Given the description of an element on the screen output the (x, y) to click on. 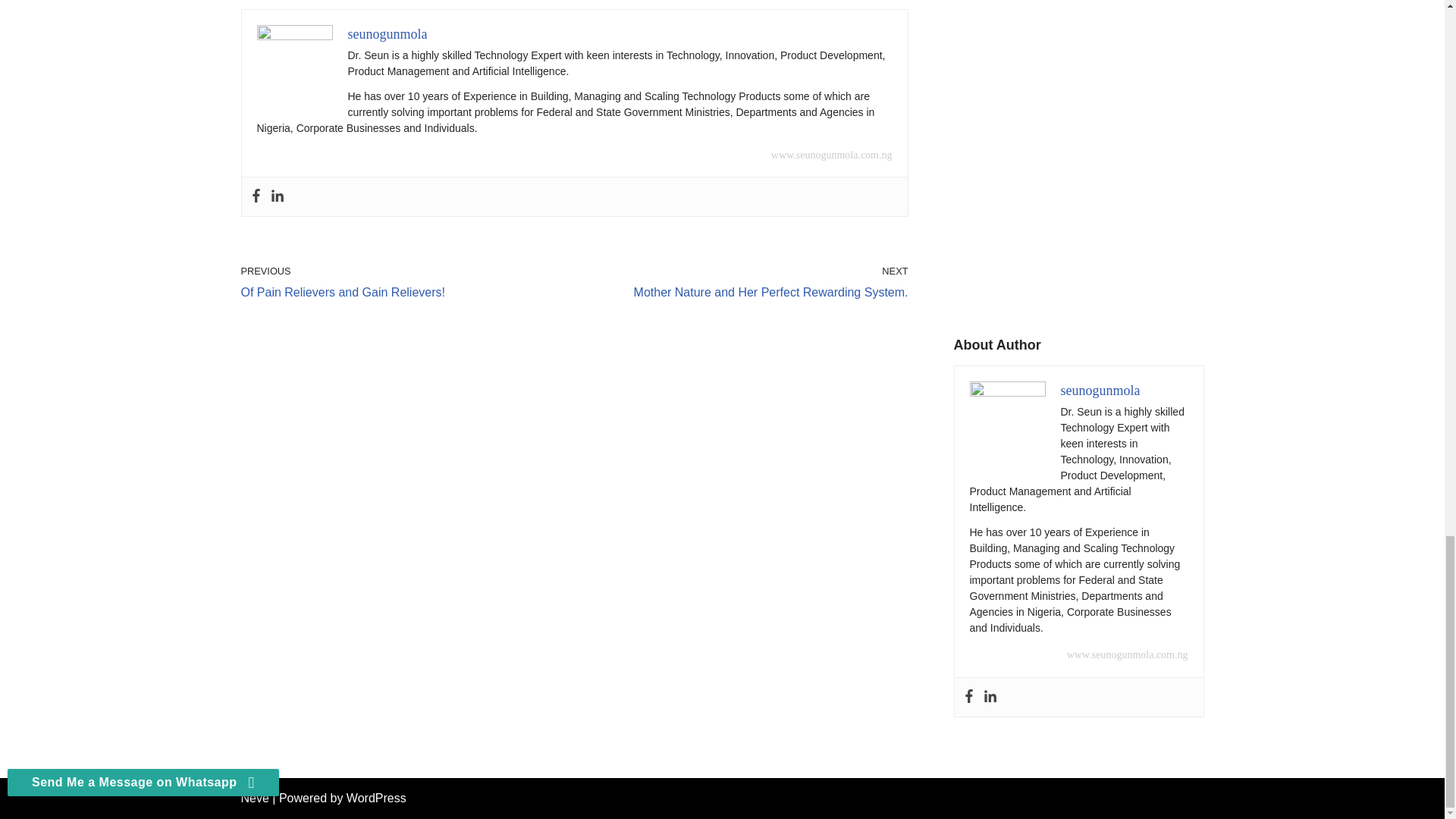
seunogunmola (745, 282)
seunogunmola (386, 33)
www.seunogunmola.com.ng (1099, 390)
